Given the description of an element on the screen output the (x, y) to click on. 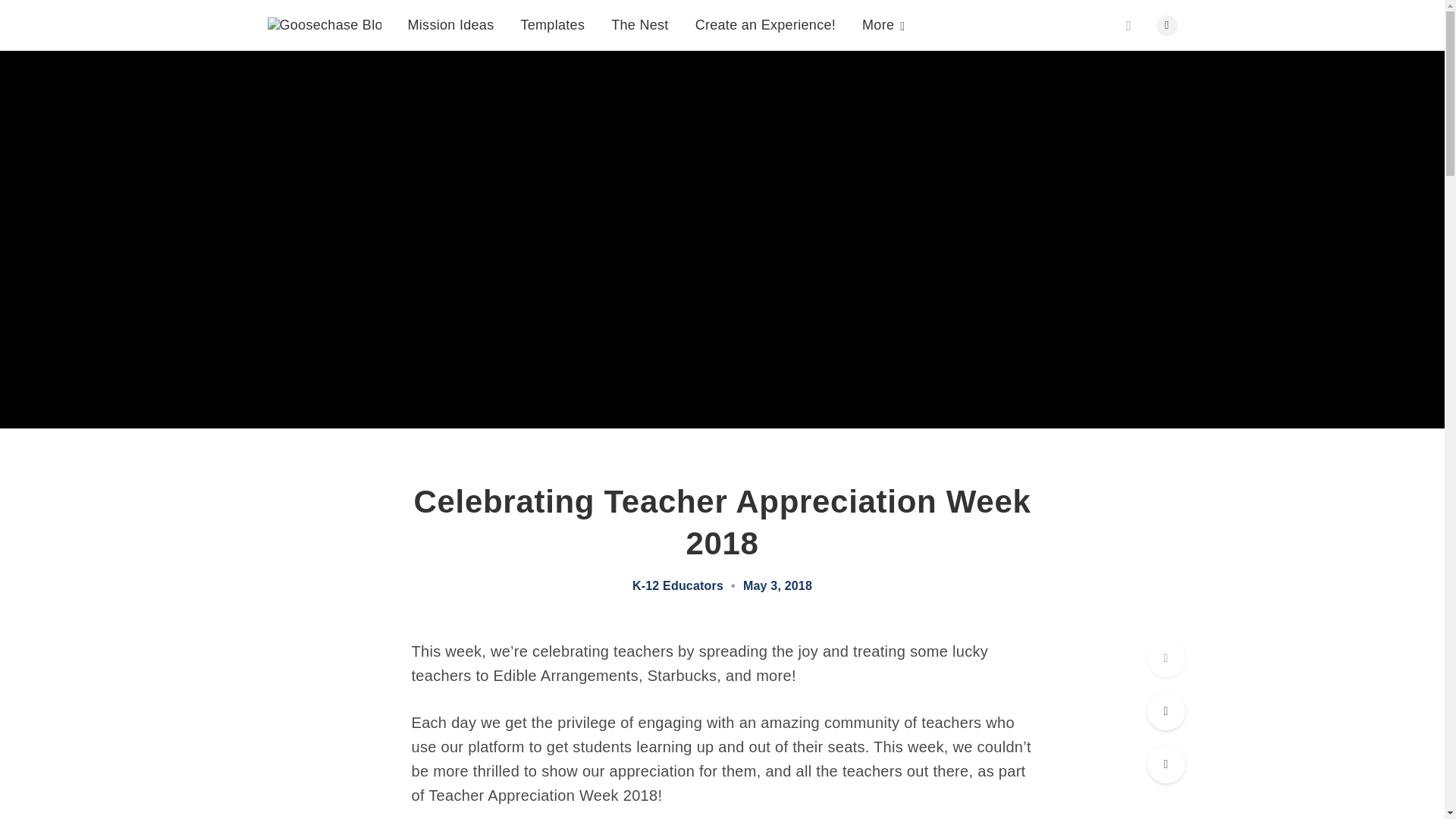
More (882, 21)
The Nest (639, 12)
K-12 Educators (677, 585)
Templates (552, 5)
Create an Experience! (765, 17)
